Given the description of an element on the screen output the (x, y) to click on. 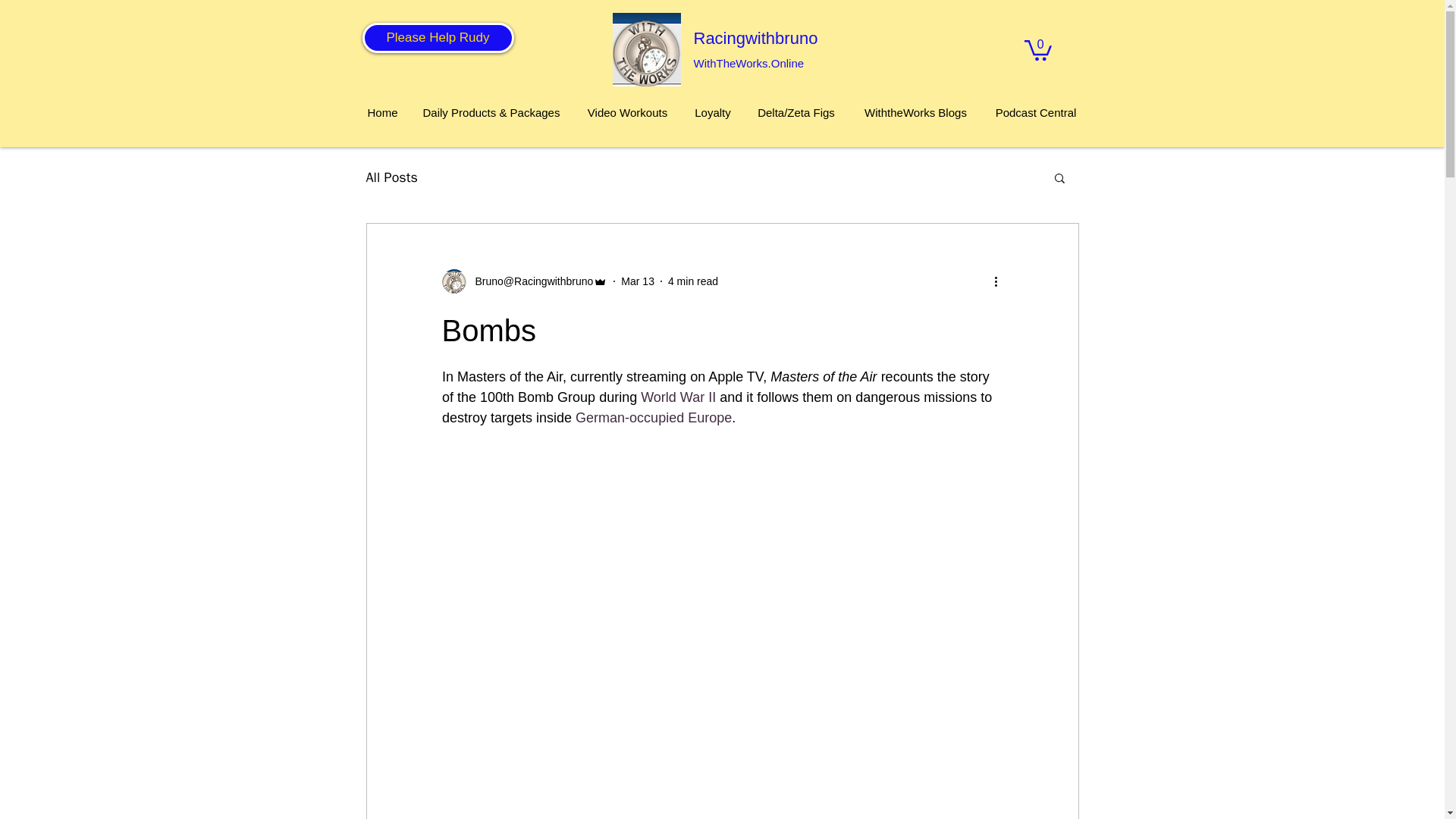
All Posts (390, 177)
Racingwithbruno (754, 37)
Podcast Central (1035, 112)
Please Help Rudy (437, 37)
World War II (678, 396)
0 (1037, 48)
Video Workouts (627, 112)
WiththeWorks Blogs (915, 112)
Home (382, 112)
German-occupied Europe (653, 417)
Loyalty (713, 112)
4 min read (692, 281)
Mar 13 (637, 281)
0 (1037, 48)
